Given the description of an element on the screen output the (x, y) to click on. 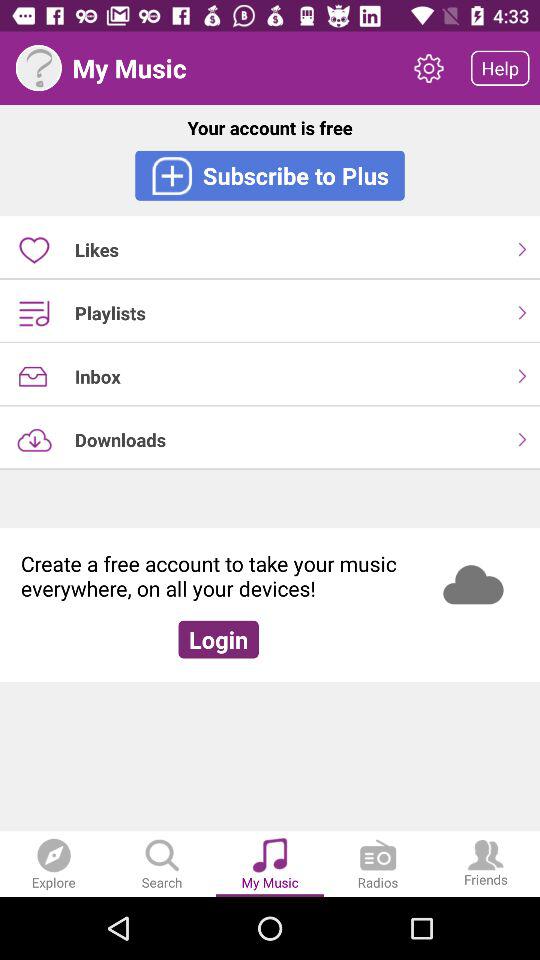
press the item next to the my music icon (428, 67)
